Given the description of an element on the screen output the (x, y) to click on. 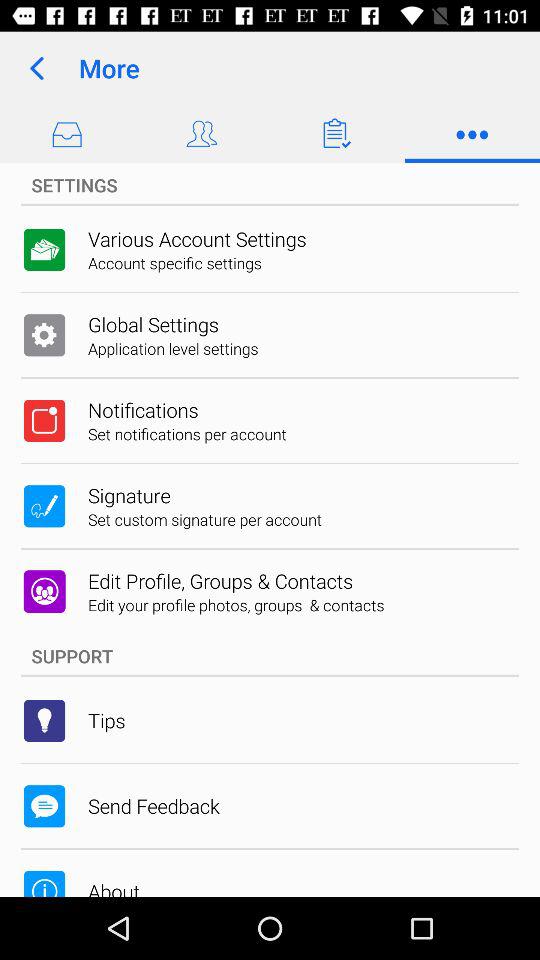
select send feedback app (153, 805)
